Given the description of an element on the screen output the (x, y) to click on. 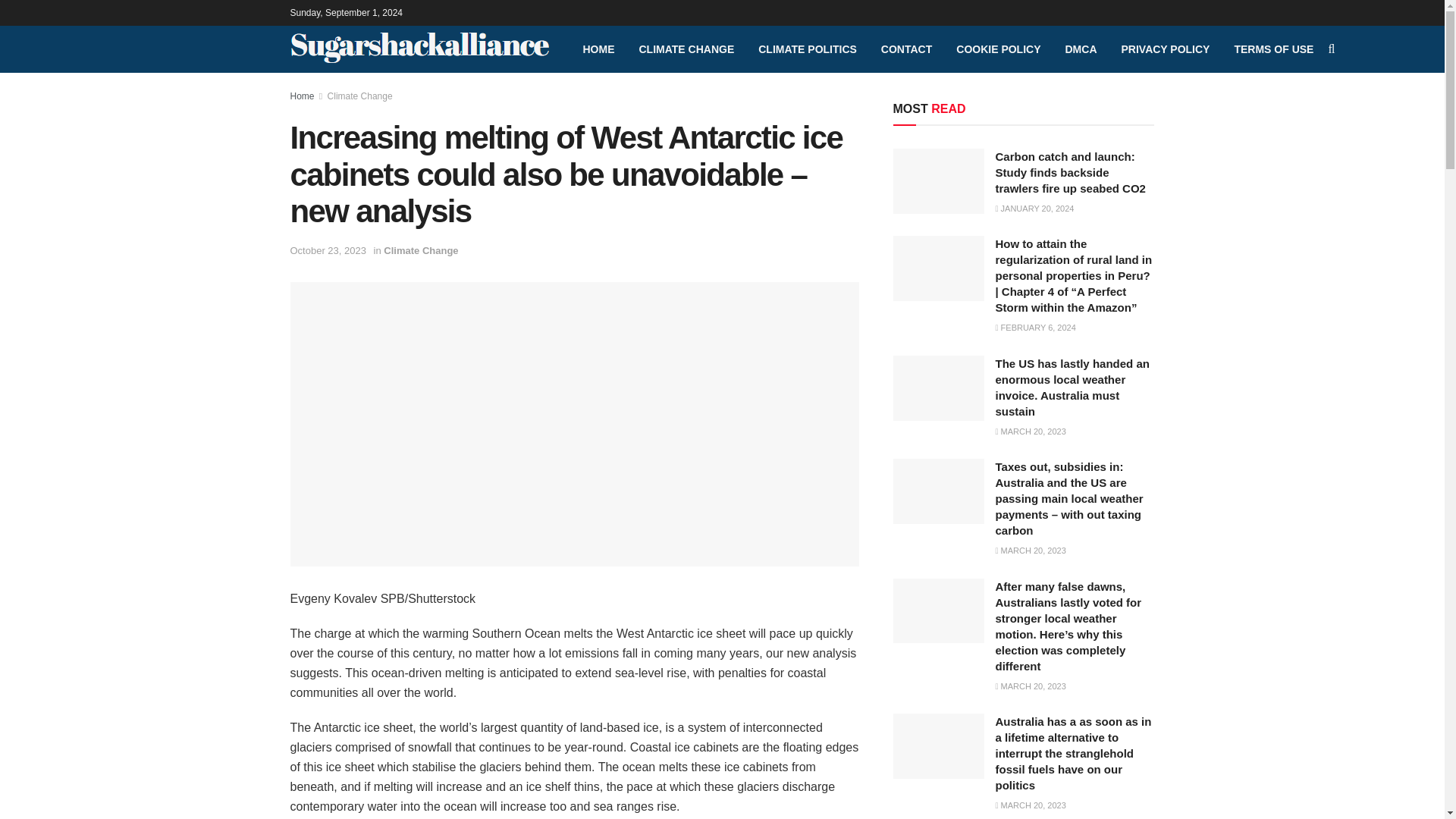
DMCA (1080, 48)
CLIMATE CHANGE (685, 48)
Home (301, 95)
October 23, 2023 (327, 250)
TERMS OF USE (1272, 48)
COOKIE POLICY (997, 48)
Climate Change (360, 95)
Climate Change (421, 250)
PRIVACY POLICY (1164, 48)
HOME (598, 48)
